Given the description of an element on the screen output the (x, y) to click on. 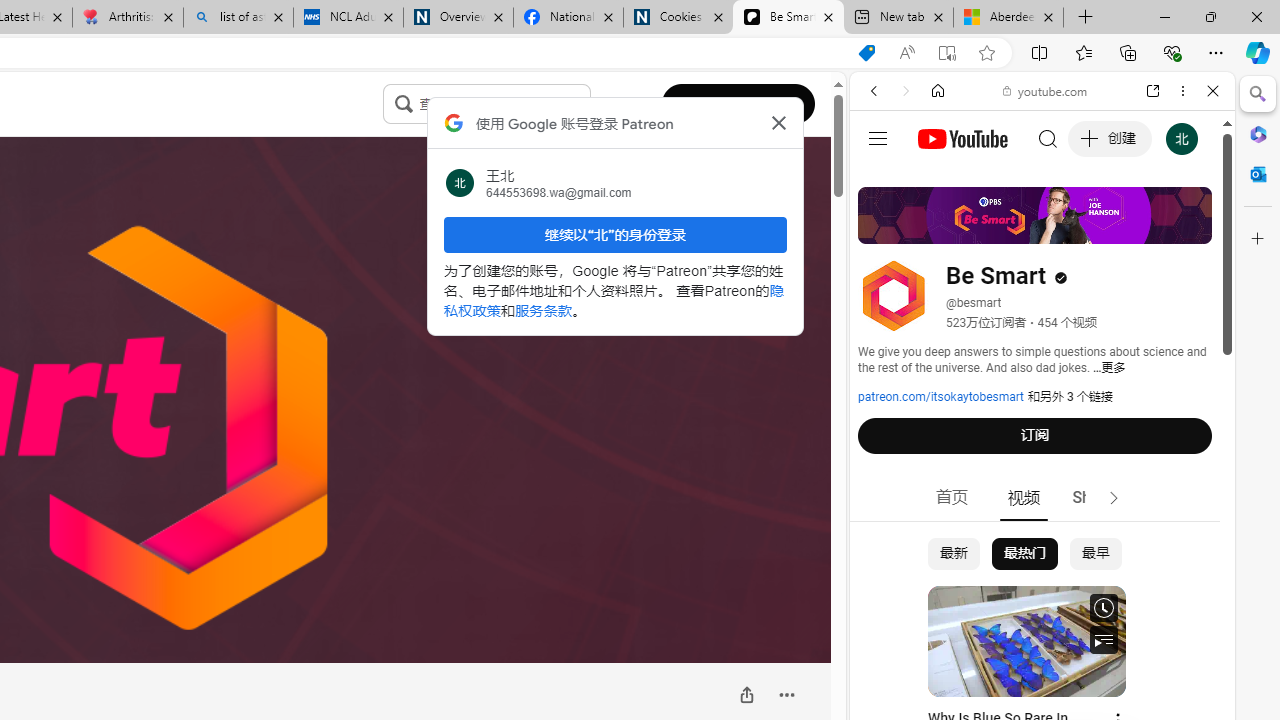
Shorts (1096, 497)
Cookies | About | NICE (678, 17)
